Given the description of an element on the screen output the (x, y) to click on. 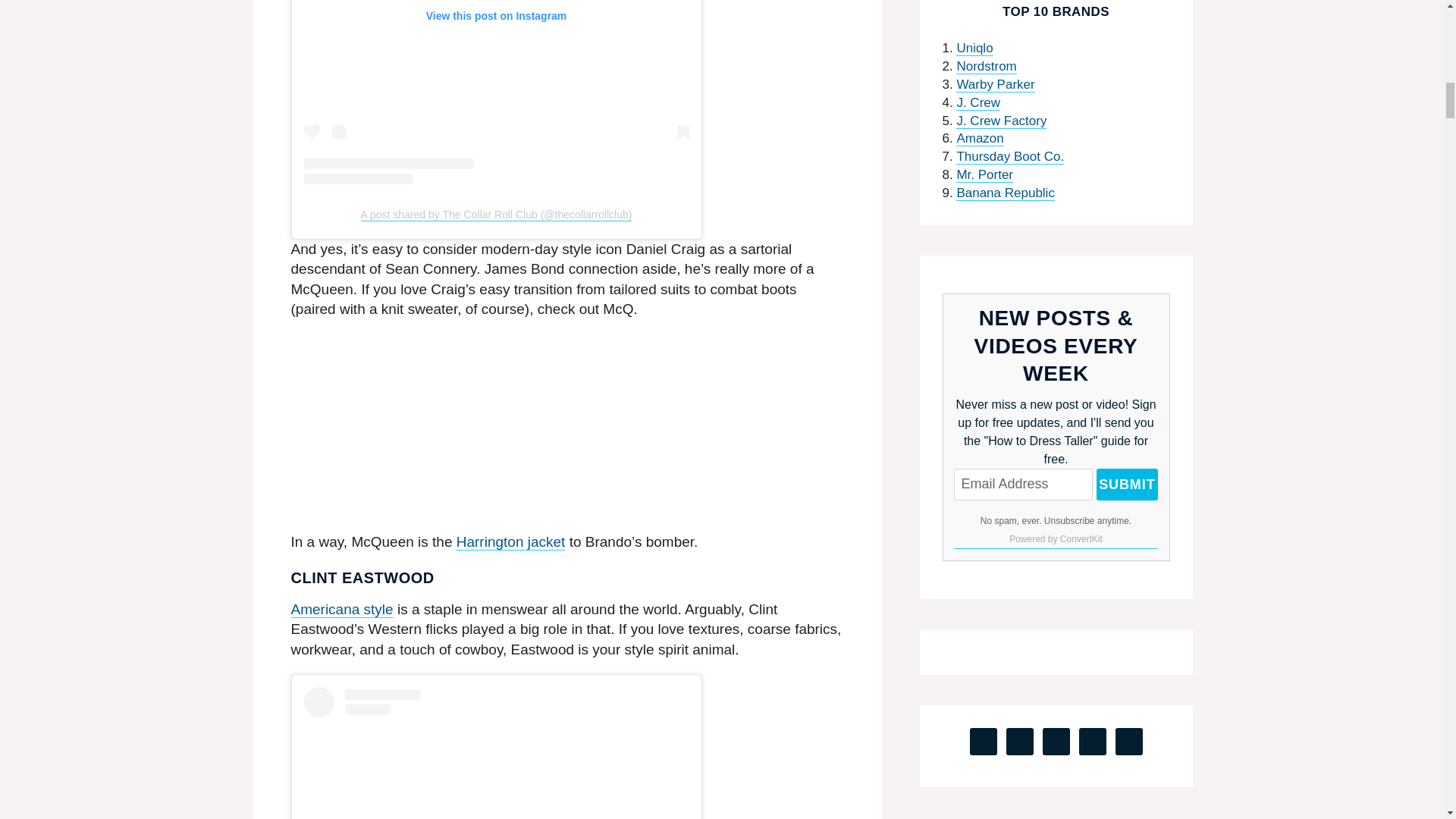
View this post on Instagram (495, 92)
Americana style (342, 609)
Harrington jacket (511, 541)
View this post on Instagram (495, 753)
